Given the description of an element on the screen output the (x, y) to click on. 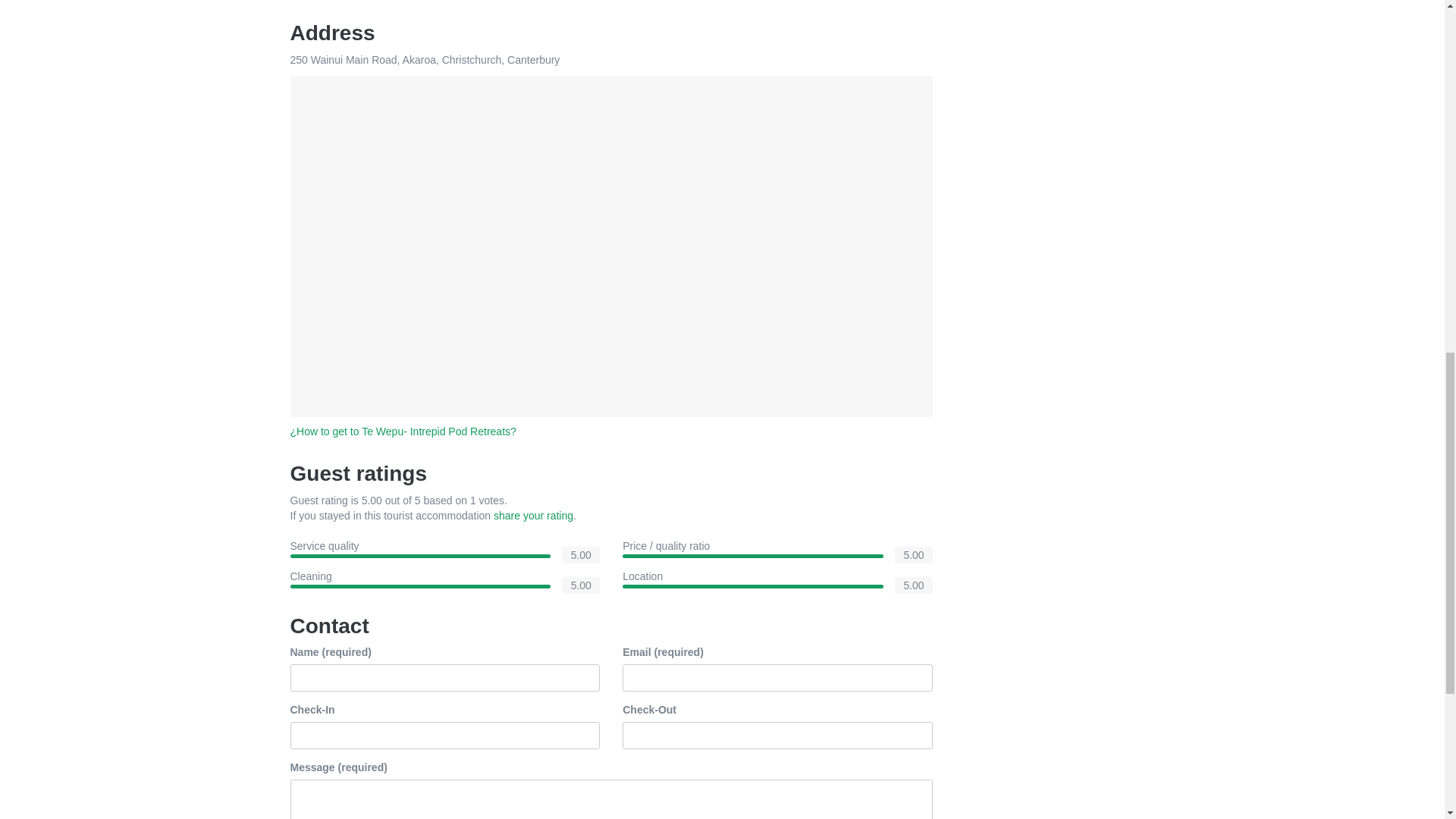
share your rating (533, 515)
